Given the description of an element on the screen output the (x, y) to click on. 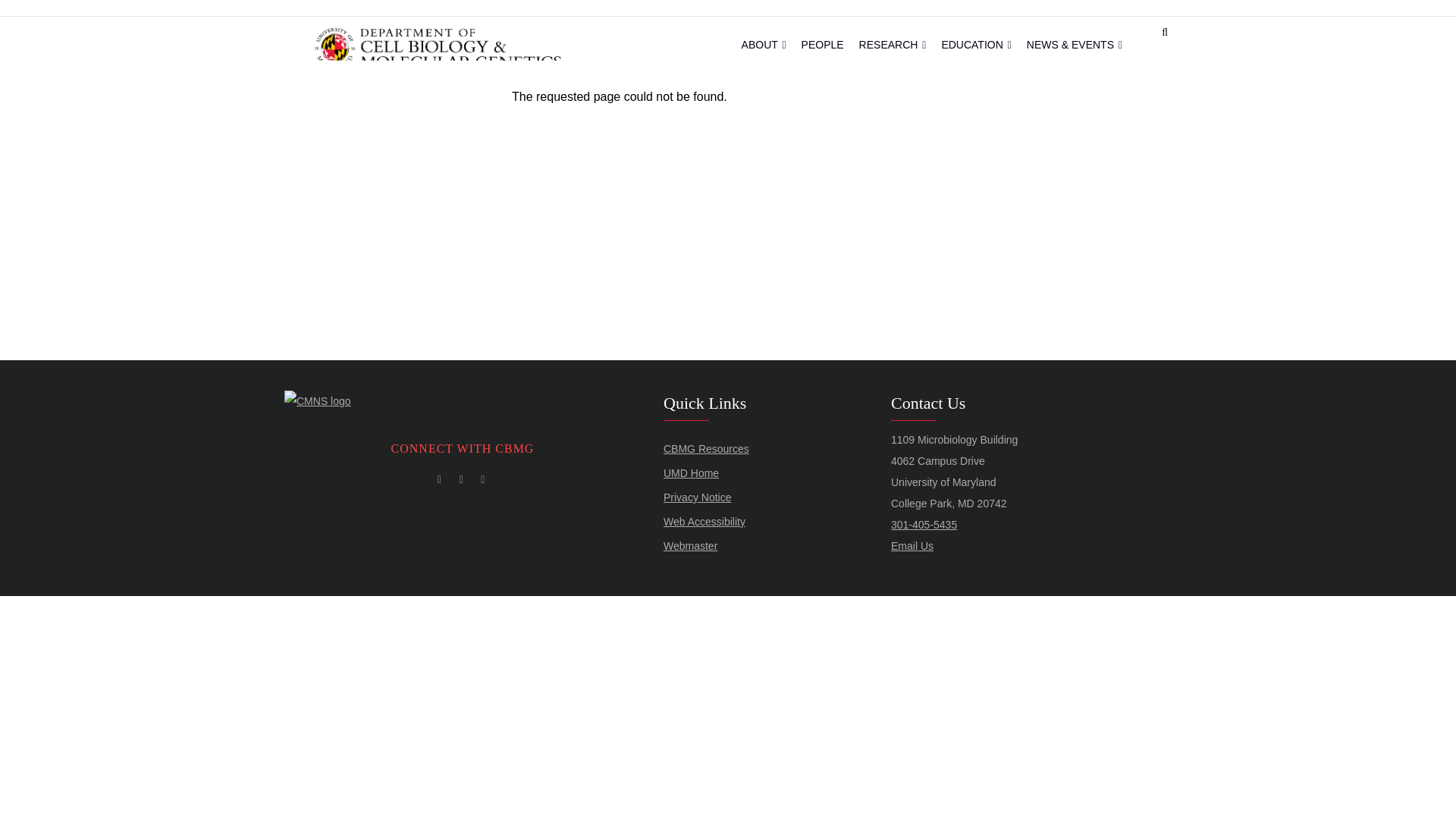
PEOPLE (822, 44)
RESEARCH (892, 44)
EDUCATION (975, 44)
ABOUT (763, 44)
Home (437, 46)
